Given the description of an element on the screen output the (x, y) to click on. 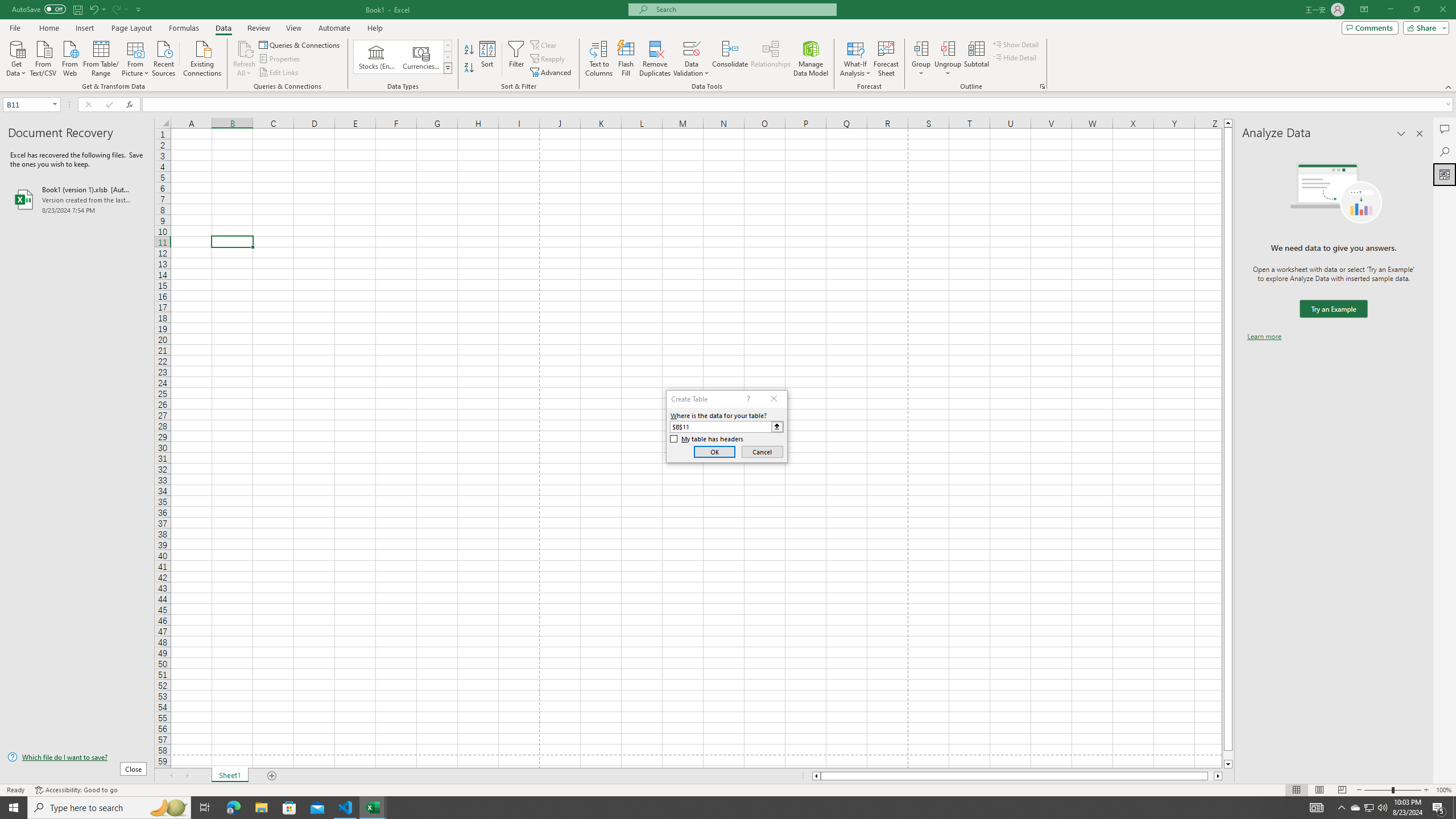
From Picture (135, 57)
